Given the description of an element on the screen output the (x, y) to click on. 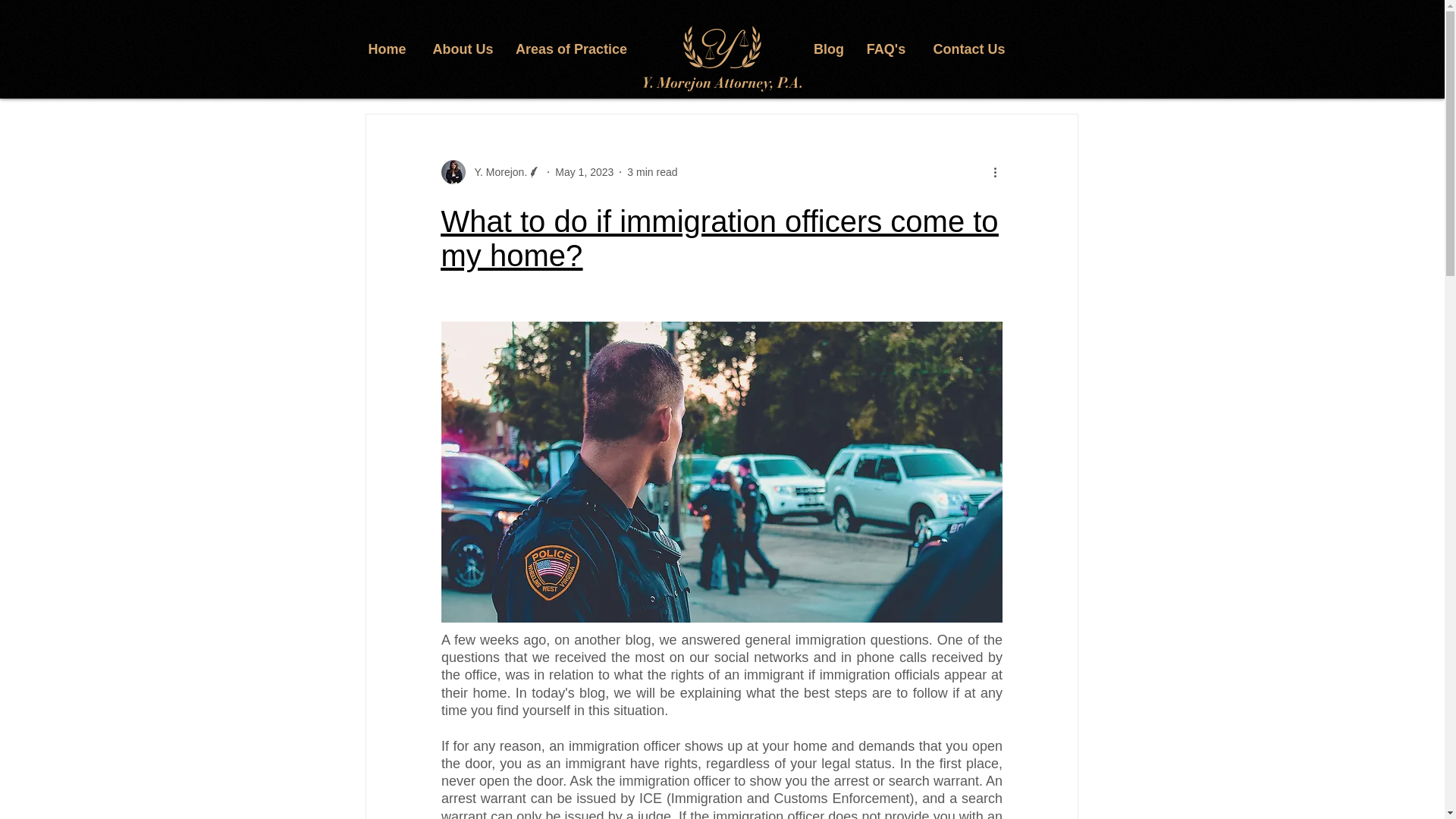
Blog (828, 49)
Home (387, 49)
About Us (462, 49)
FAQ's (886, 49)
May 1, 2023 (583, 171)
Y. Morejon. (496, 171)
Areas of Practice (571, 49)
Y. Morejon. (491, 171)
Contact Us (968, 49)
3 min read (652, 171)
